Given the description of an element on the screen output the (x, y) to click on. 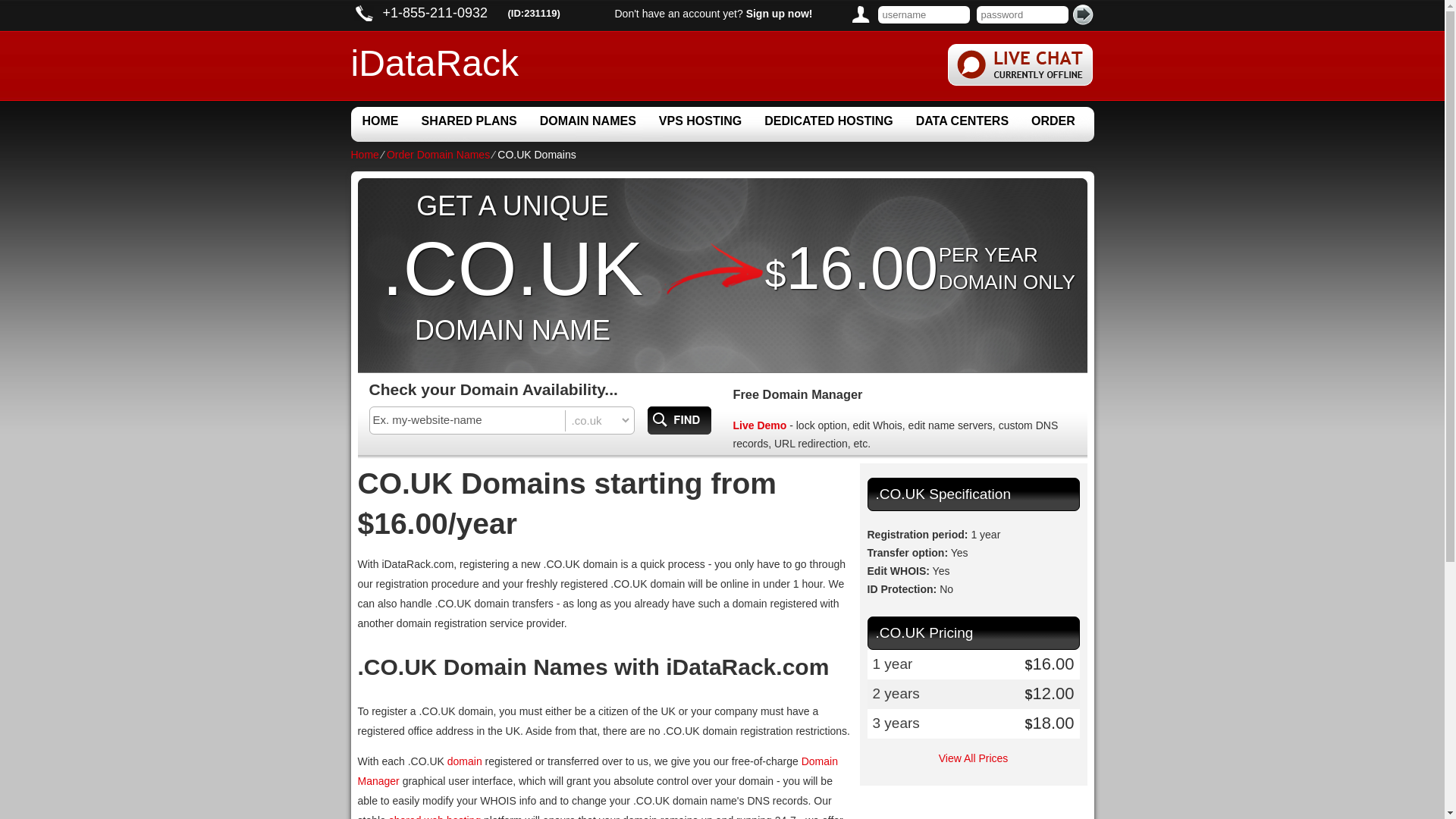
HOME (379, 121)
VPS HOSTING (700, 121)
ORDER (1053, 121)
View All Prices (974, 758)
Order Domain Names (438, 154)
Domain Manager (598, 771)
DEDICATED HOSTING (828, 121)
DOMAIN NAMES (587, 121)
Ex. my-website-name (467, 419)
